Given the description of an element on the screen output the (x, y) to click on. 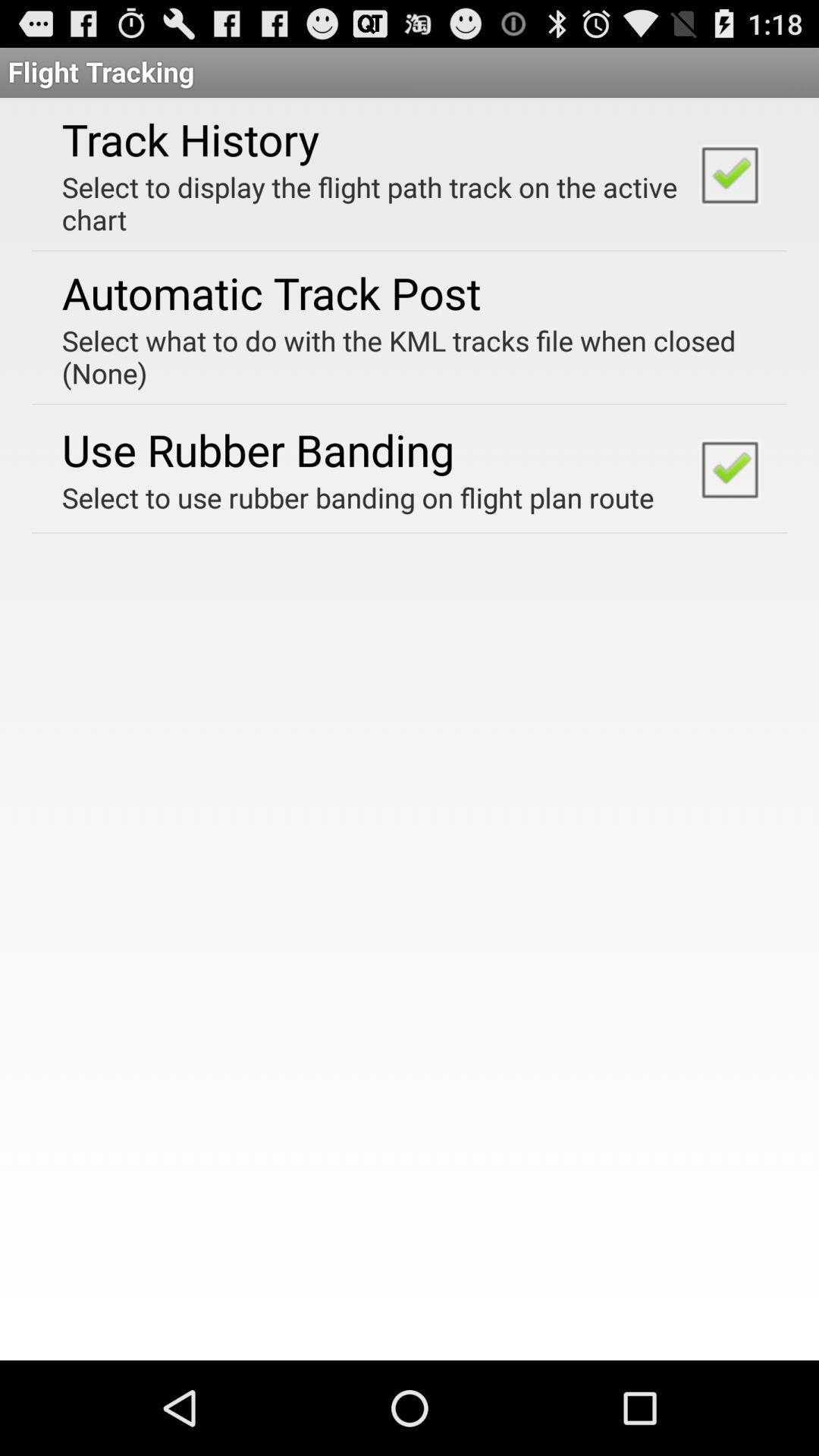
turn on the item above the select what to (271, 292)
